Given the description of an element on the screen output the (x, y) to click on. 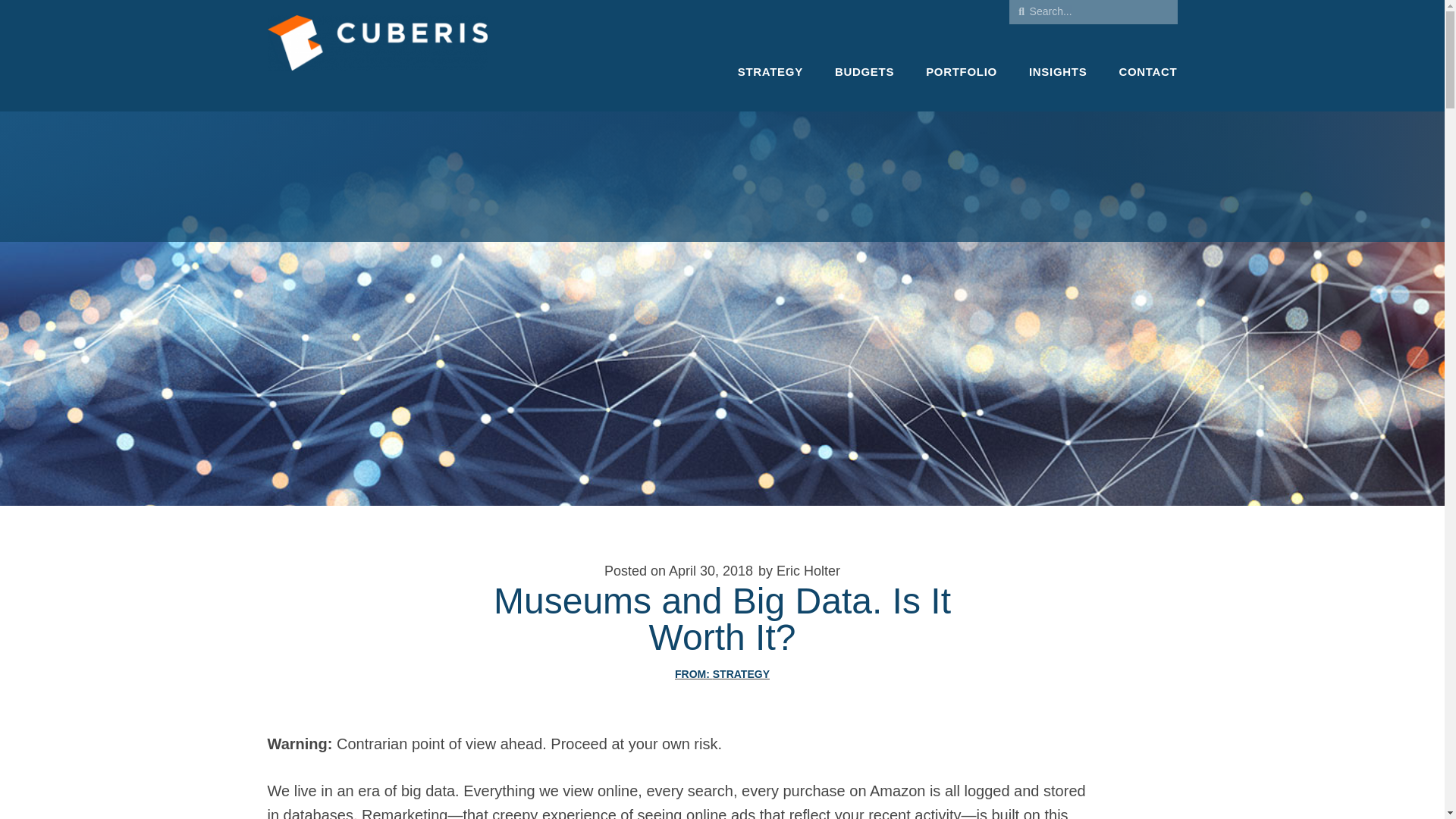
Cuberis-logo (376, 54)
STRATEGY (770, 71)
STRATEGY (741, 674)
INSIGHTS (1057, 71)
PORTFOLIO (961, 71)
BUDGETS (863, 71)
CONTACT (1147, 71)
